Given the description of an element on the screen output the (x, y) to click on. 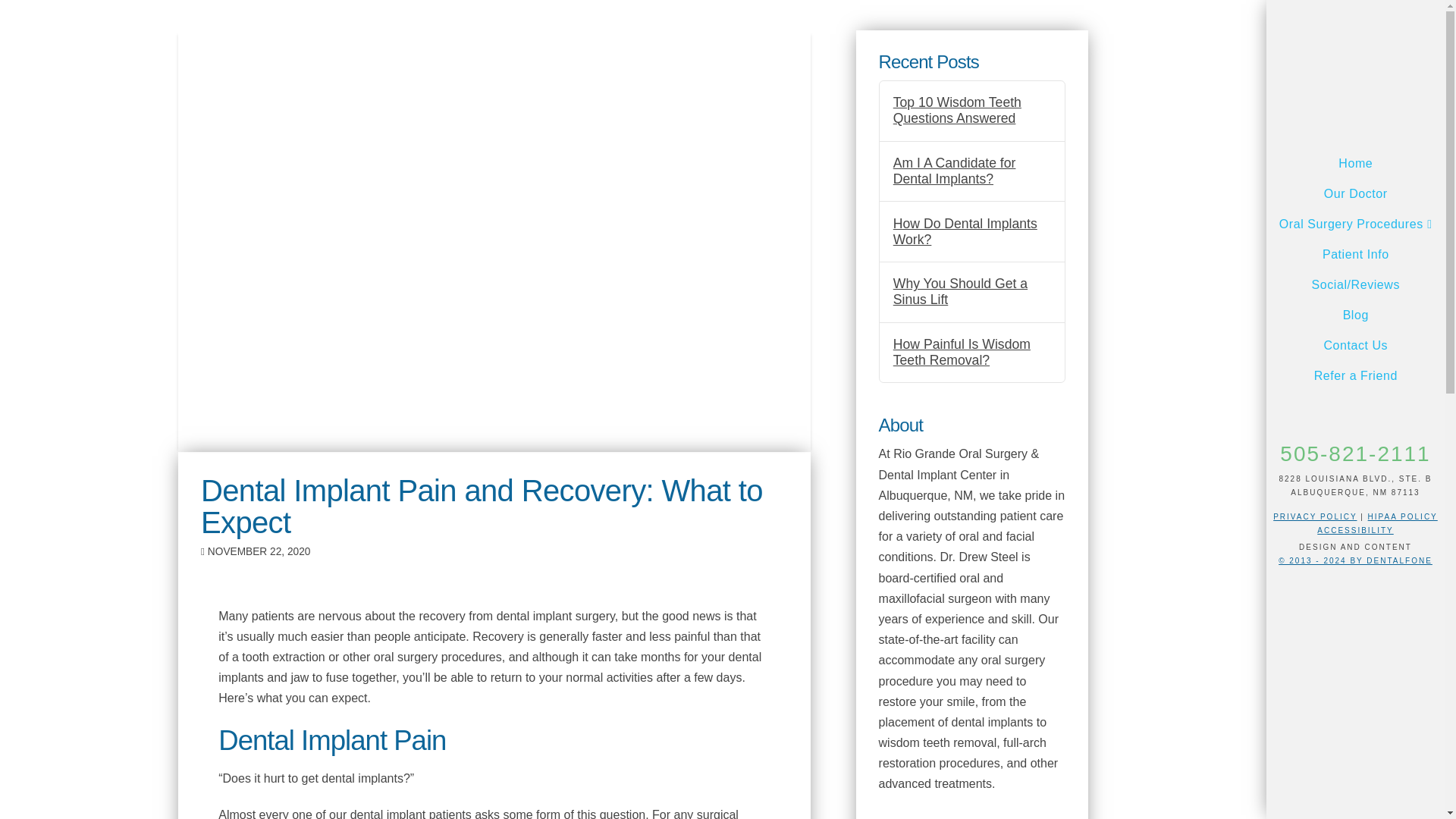
HIPAA POLICY (1403, 516)
Phone Number (1354, 454)
505-821-2111 (1354, 454)
ACCESSIBILITY (1355, 530)
PRIVACY POLICY (1314, 516)
